Given the description of an element on the screen output the (x, y) to click on. 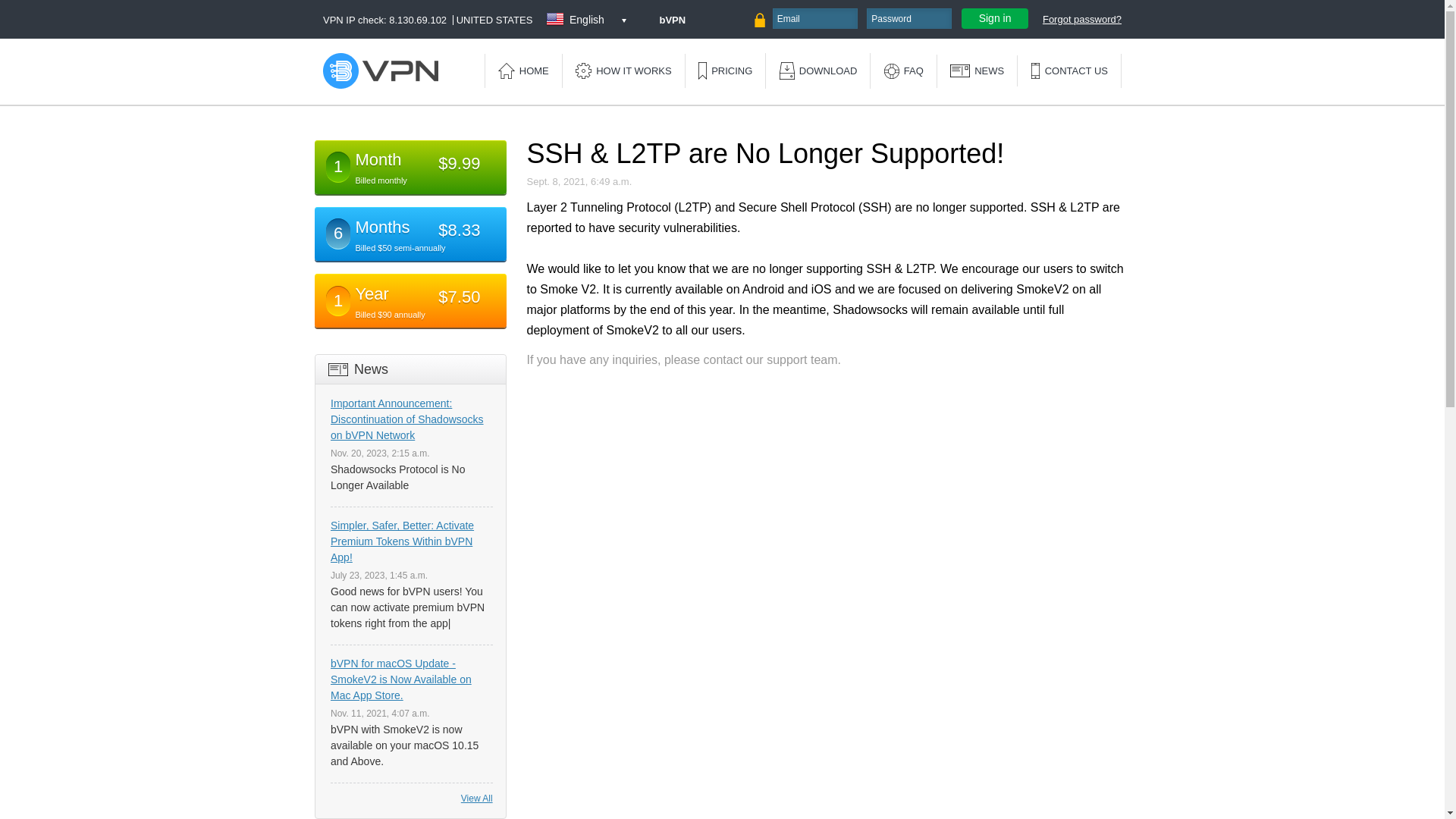
NEWS (976, 70)
Opens a widget where you can chat to one of our agents (1386, 792)
CONTACT US (1069, 70)
HOME (523, 70)
Forgot password? (1081, 19)
English (587, 19)
DOWNLOAD (818, 70)
HOW IT WORKS (623, 70)
PRICING (725, 70)
FAQ (903, 70)
Sign in (994, 18)
View All (477, 798)
